Given the description of an element on the screen output the (x, y) to click on. 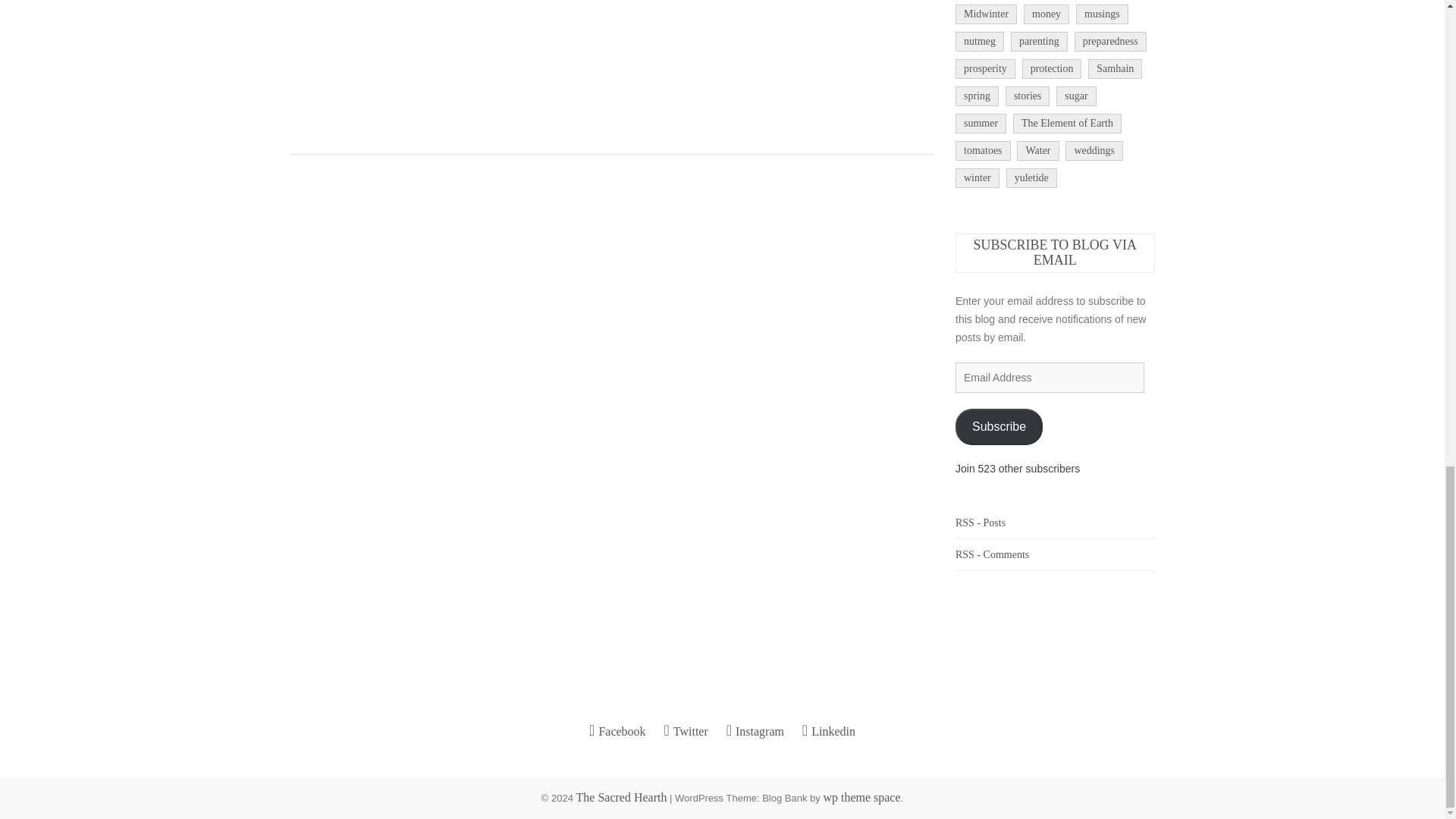
Subscribe to comments (992, 554)
Subscribe to posts (980, 522)
